Given the description of an element on the screen output the (x, y) to click on. 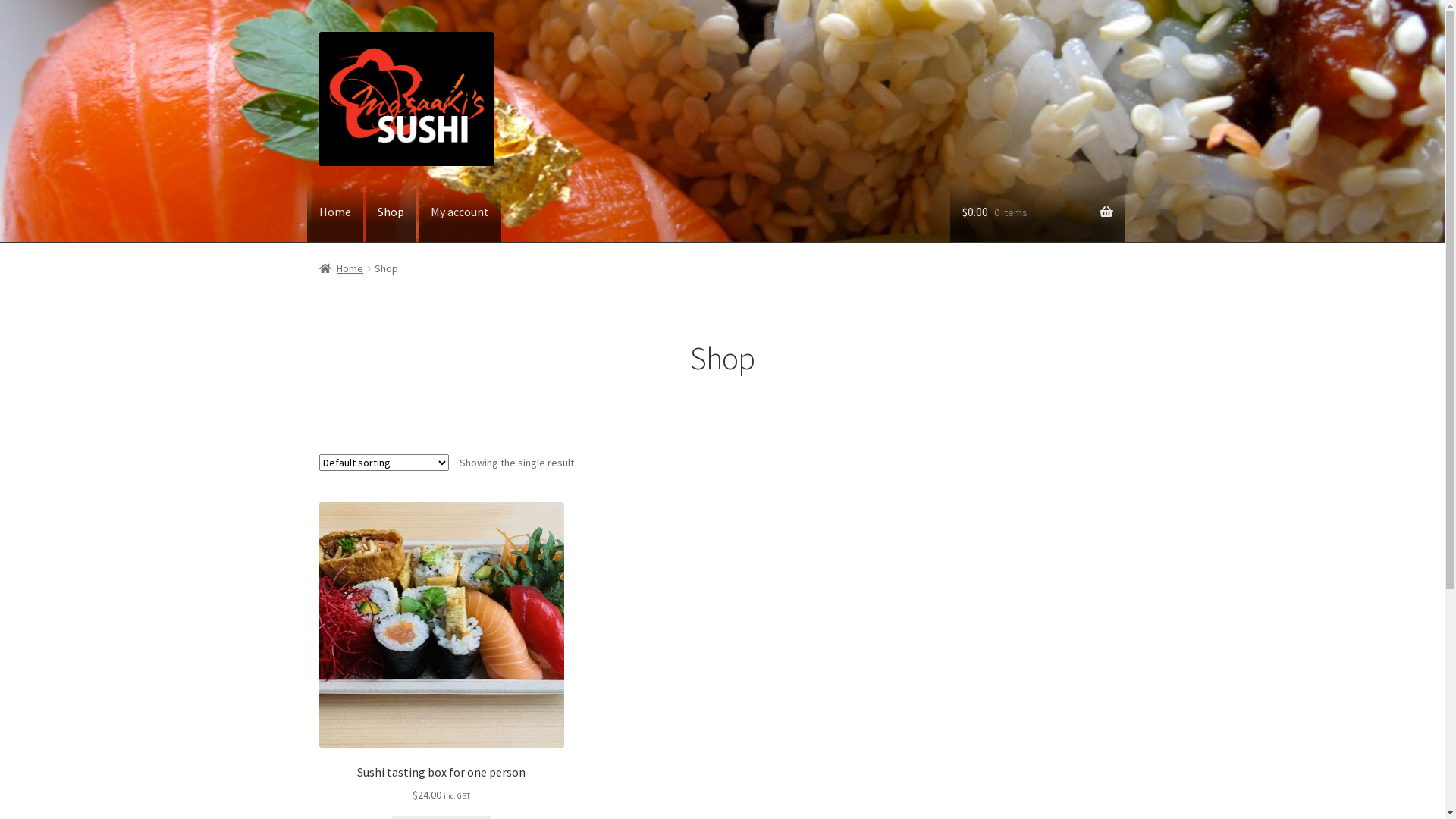
Home Element type: text (341, 268)
Home Element type: text (335, 211)
Sushi tasting box for one person
$24.00 inc. GST Element type: text (441, 652)
Shop Element type: text (390, 211)
$0.00 0 items Element type: text (1037, 211)
Skip to navigation Element type: text (318, 31)
My account Element type: text (459, 211)
